Given the description of an element on the screen output the (x, y) to click on. 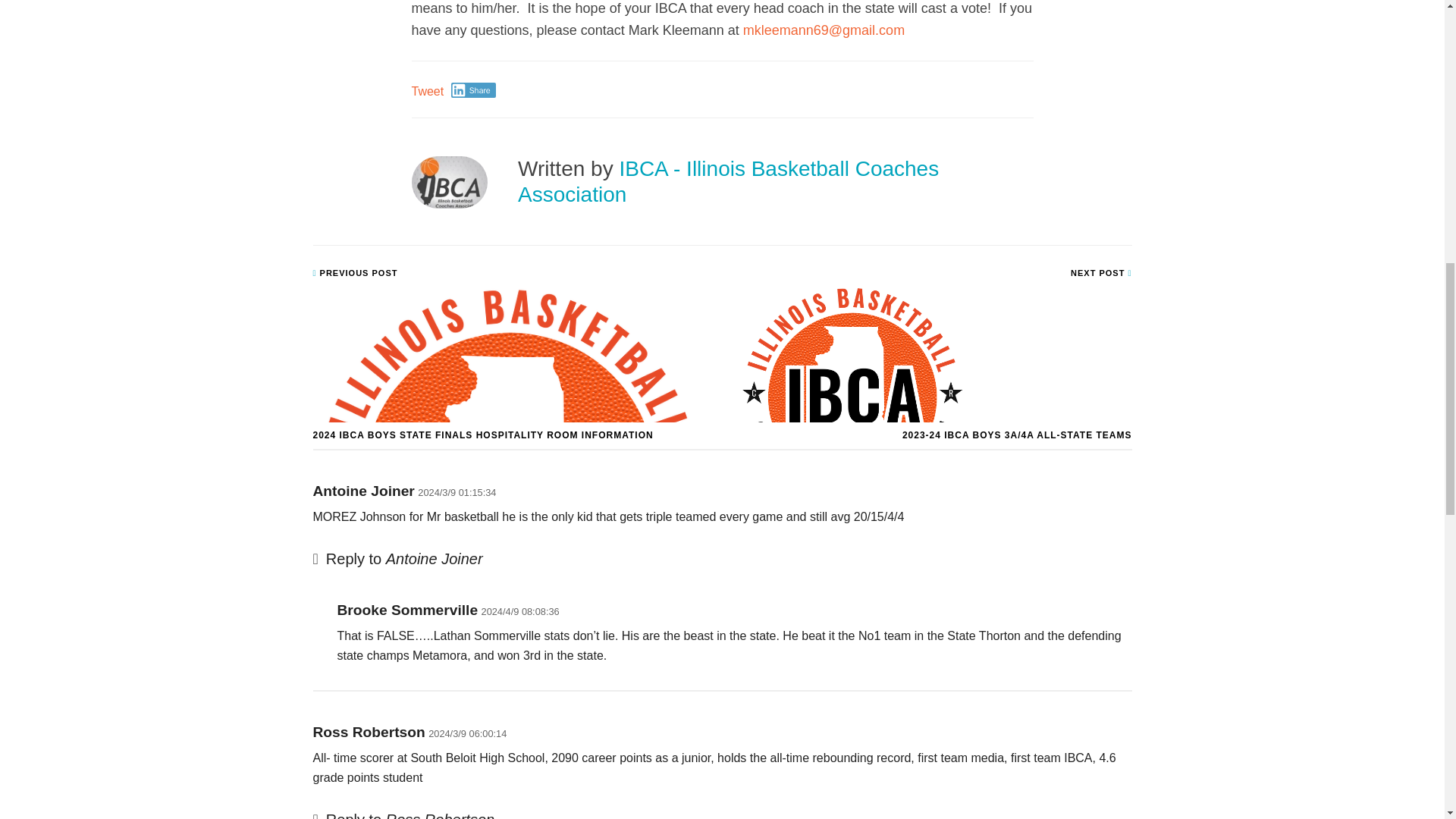
Tweet (427, 91)
Share (473, 89)
NEXT POST (1100, 272)
IBCA - Illinois Basketball Coaches Association (728, 181)
